Given the description of an element on the screen output the (x, y) to click on. 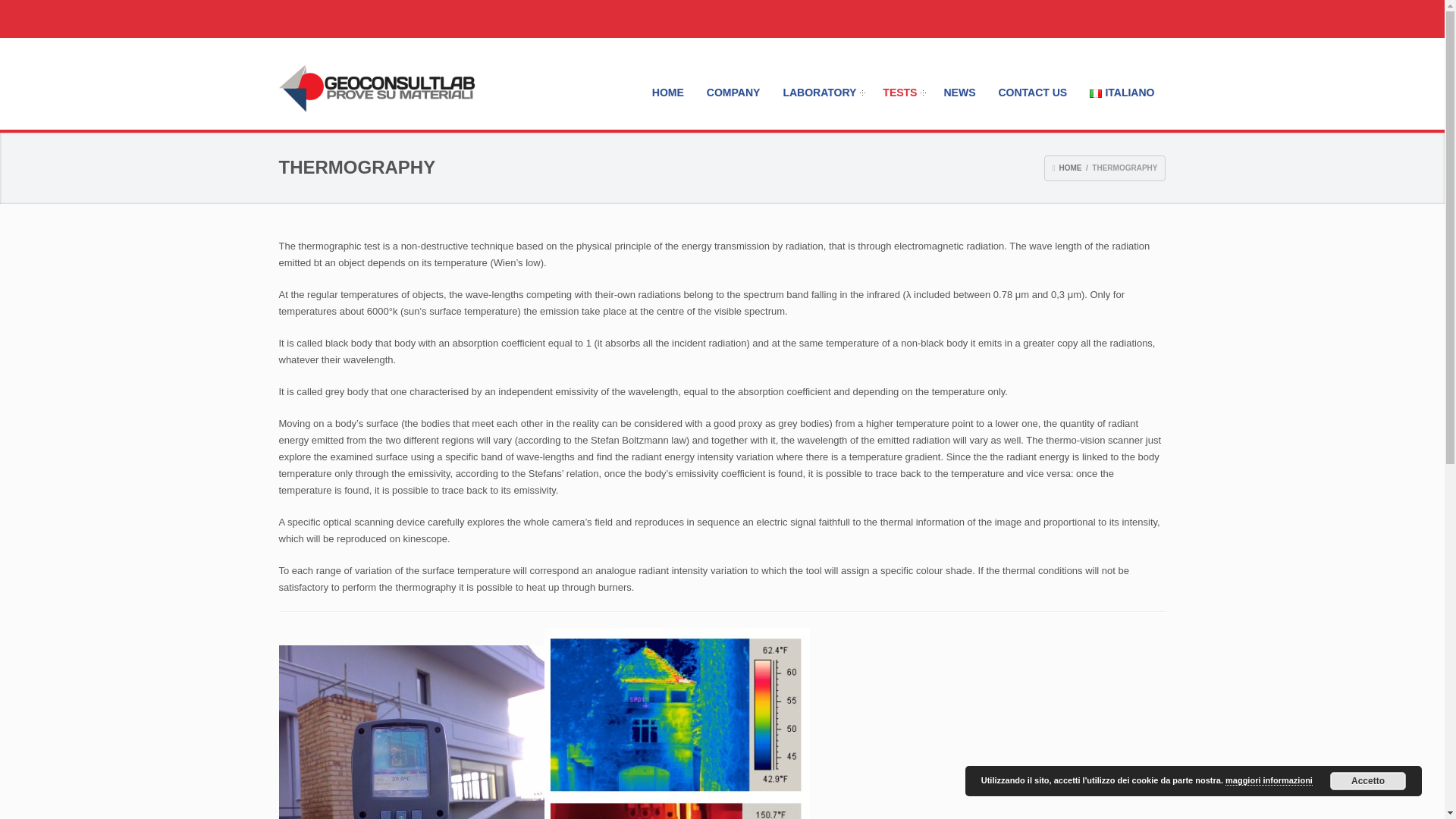
HOME (667, 92)
COMPANY (733, 92)
